Given the description of an element on the screen output the (x, y) to click on. 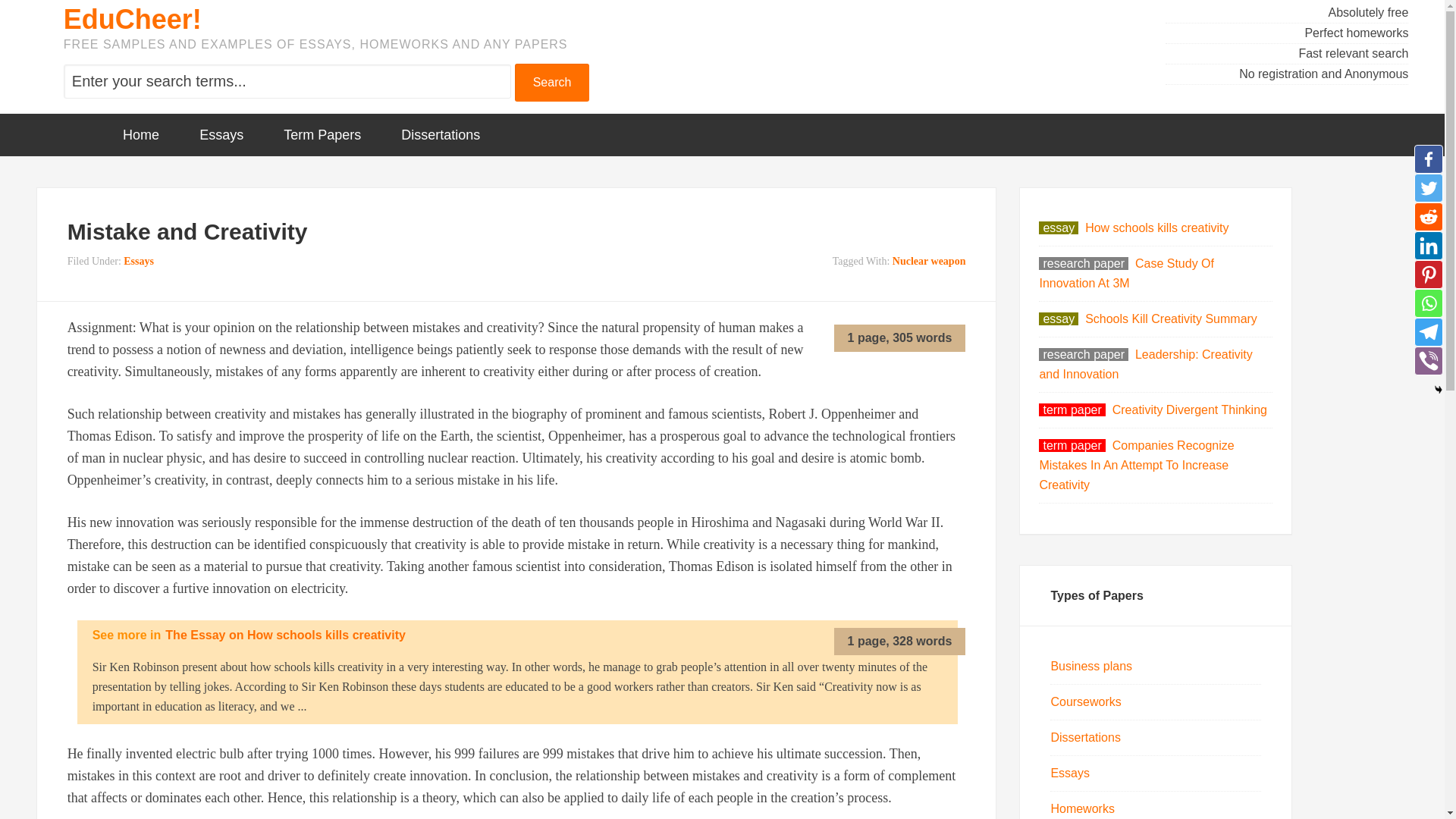
research paper  Case Study Of Innovation At 3M (1126, 273)
Business plans (1090, 666)
Reddit (1427, 216)
Search (552, 82)
Viber (1427, 360)
Essays (138, 260)
Courseworks (1085, 701)
Whatsapp (1427, 303)
essay  Schools Kill Creativity Summary (1147, 318)
Search (552, 82)
term paper  Creativity Divergent Thinking (1152, 409)
EduCheer! (133, 19)
Dissertations (1084, 737)
Home (140, 134)
research paper  Leadership: Creativity and Innovation (1145, 364)
